Given the description of an element on the screen output the (x, y) to click on. 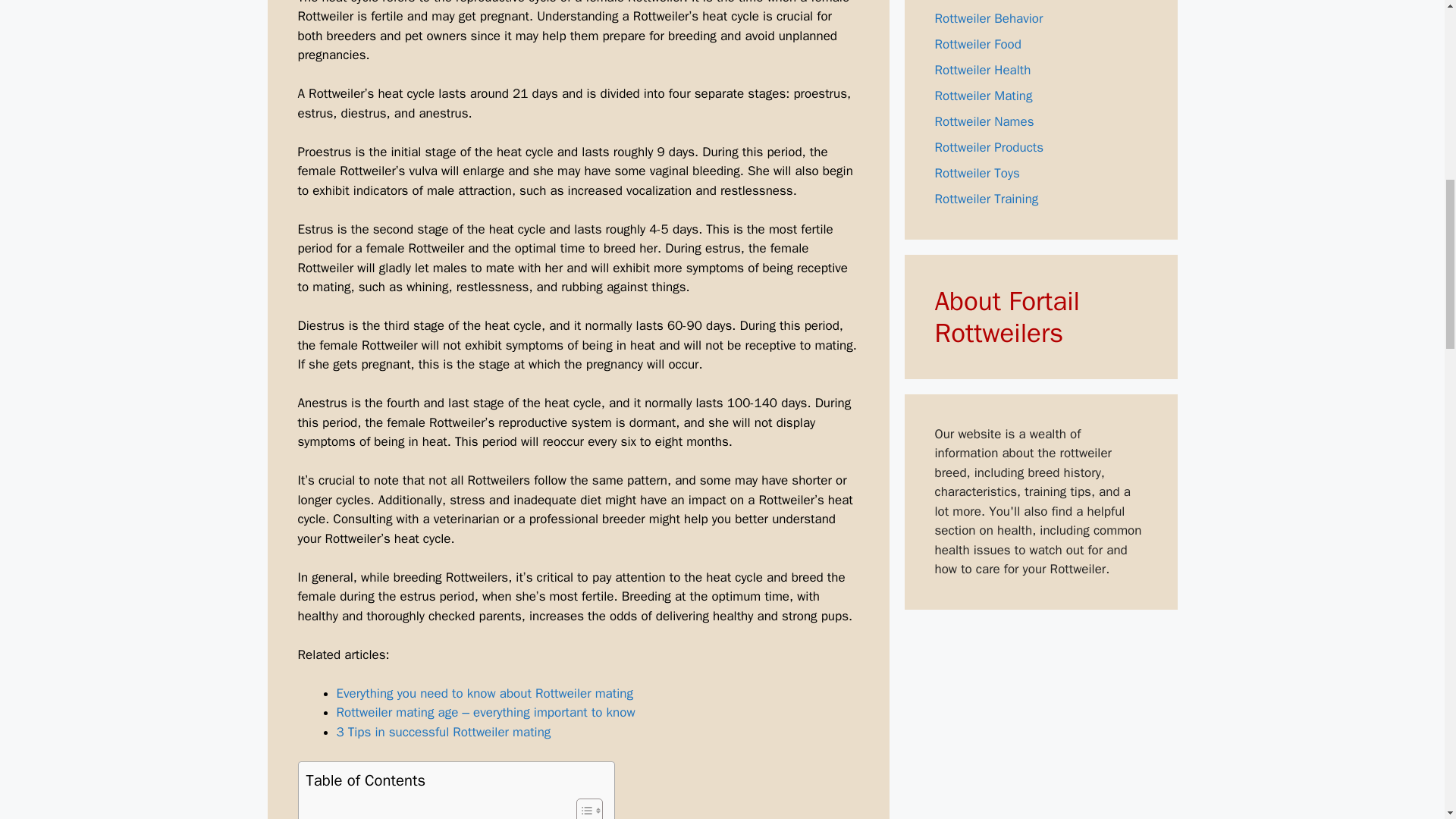
3 Tips in successful Rottweiler mating (443, 731)
Everything you need to know about Rottweiler mating (484, 693)
